Given the description of an element on the screen output the (x, y) to click on. 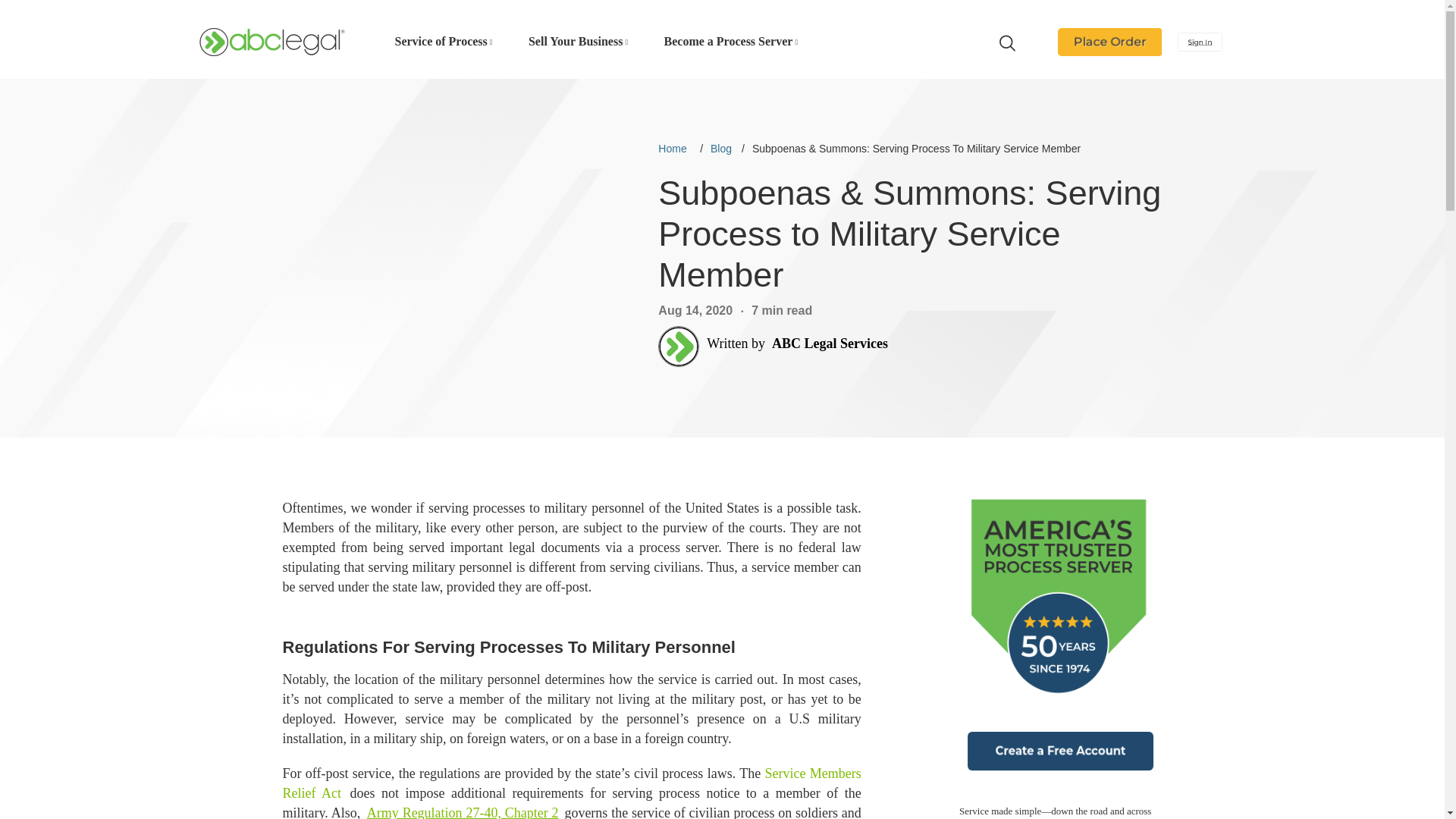
Go (1006, 41)
ABClegal-Logo (270, 41)
Service of Process (442, 41)
Become a Process Server (729, 41)
Trusted Badge (1060, 599)
Sell Your Business (577, 41)
